Given the description of an element on the screen output the (x, y) to click on. 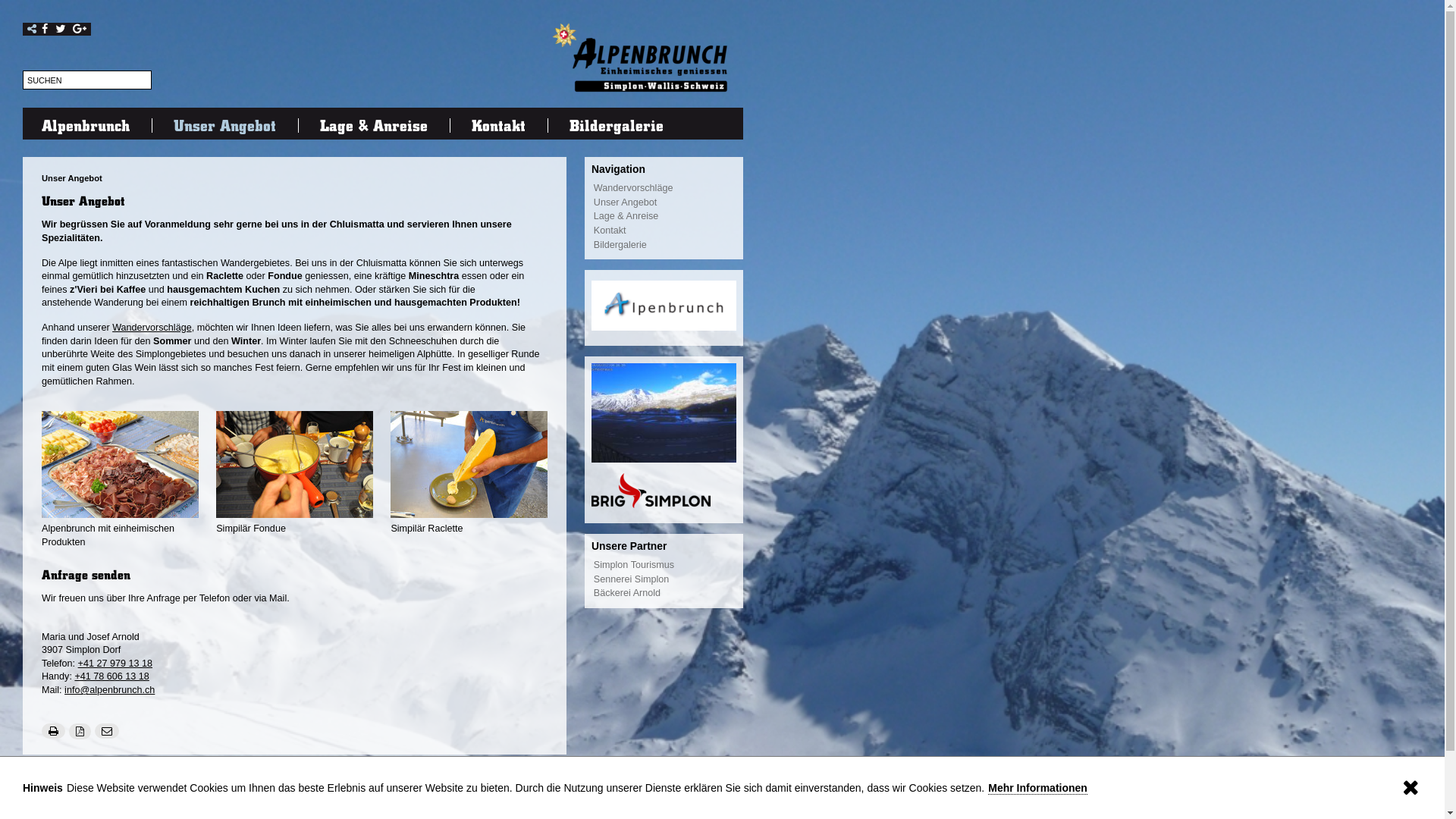
+41 27 979 13 18 Element type: text (115, 663)
info@alpenbrunch.ch Element type: text (109, 689)
Unser Angebot Element type: text (224, 125)
Mehr Informationen Element type: text (1037, 787)
Kontakt Element type: text (134, 796)
info@alpenbrunch.ch Element type: text (380, 776)
. Element type: text (1411, 786)
Unser Angebot Element type: text (224, 801)
Anreise Element type: text (307, 796)
Alpenbrunch Element type: text (86, 125)
+41 78 606 13 18 Element type: text (111, 676)
Bildergalerie Element type: text (616, 125)
Alpenbrunch mit einheimischen Produkten Element type: hover (119, 464)
Simplon Tourismus Element type: text (664, 565)
Sennerei Simplon Element type: text (664, 580)
Lage & Anreise Element type: text (664, 217)
Kontakt Element type: text (498, 125)
Bildergalerie Element type: text (664, 245)
Unser Angebot Element type: text (664, 203)
Home Element type: text (47, 796)
Unser Angebot Element type: text (71, 177)
Lage & Anreise Element type: text (373, 125)
Kontakt Element type: text (664, 231)
